Given the description of an element on the screen output the (x, y) to click on. 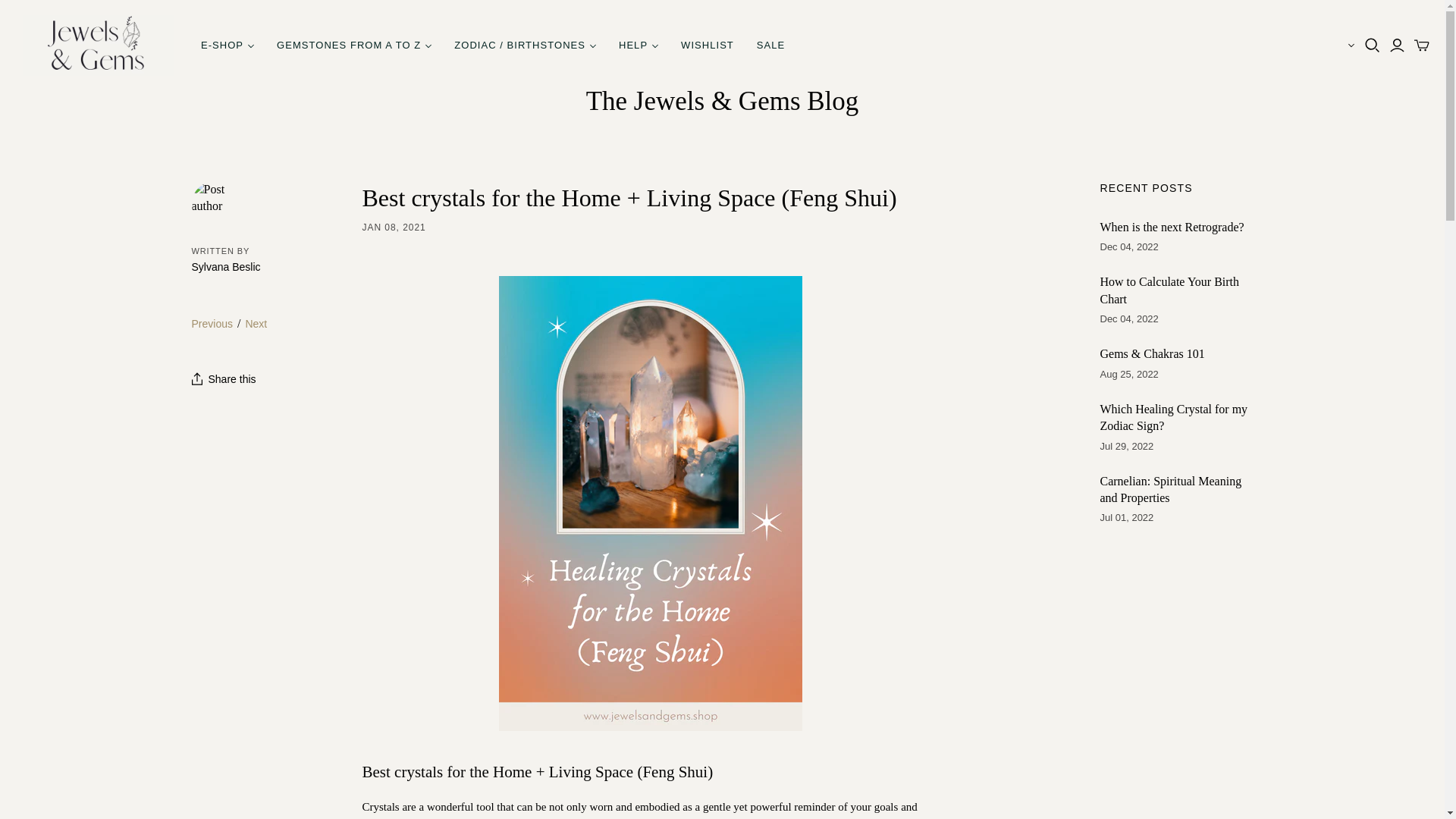
SALE (770, 45)
WISHLIST (707, 45)
GEMSTONES FROM A TO Z (353, 45)
E-SHOP (226, 45)
HELP (638, 45)
